Given the description of an element on the screen output the (x, y) to click on. 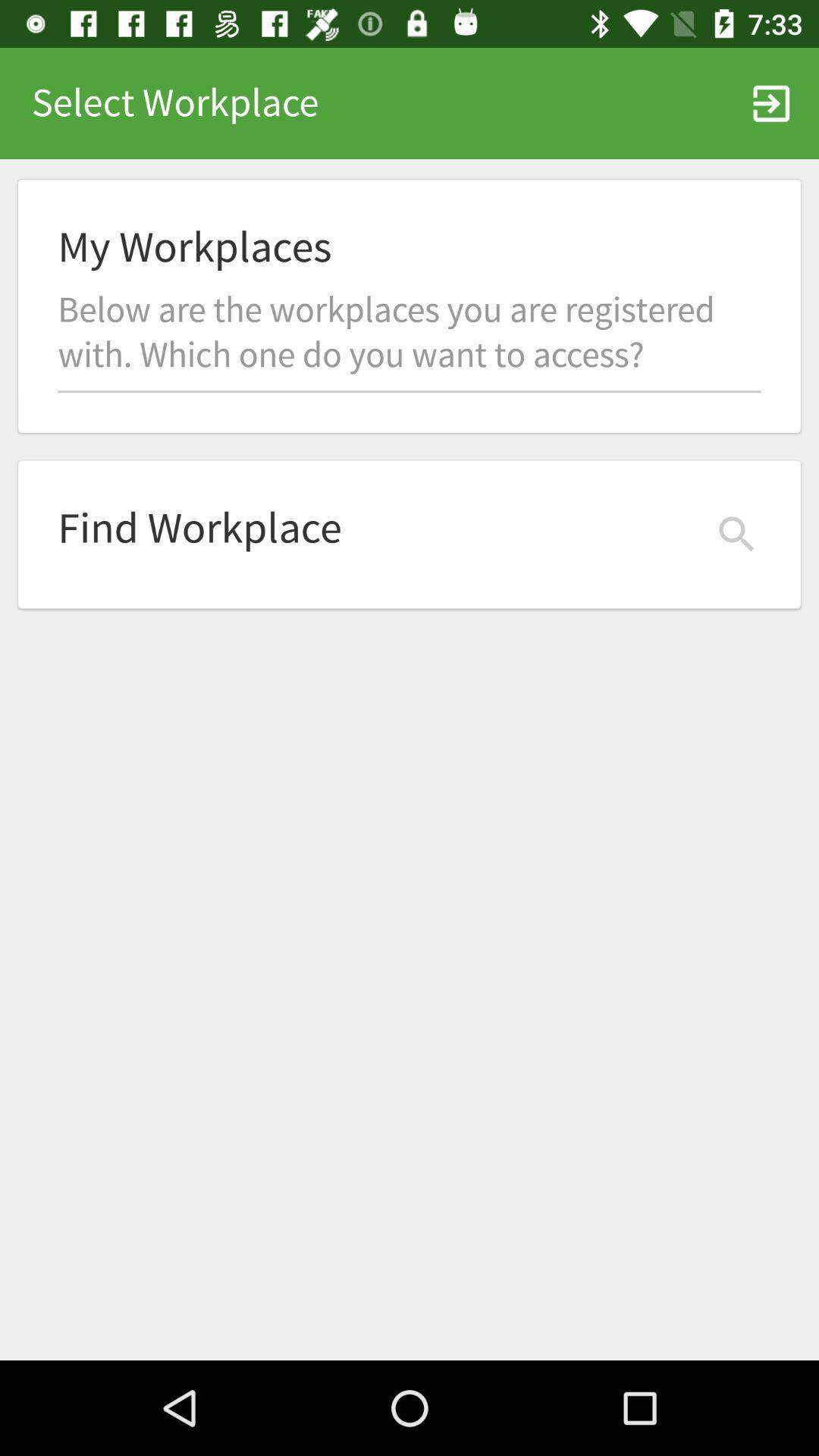
choose icon at the top right corner (771, 103)
